Given the description of an element on the screen output the (x, y) to click on. 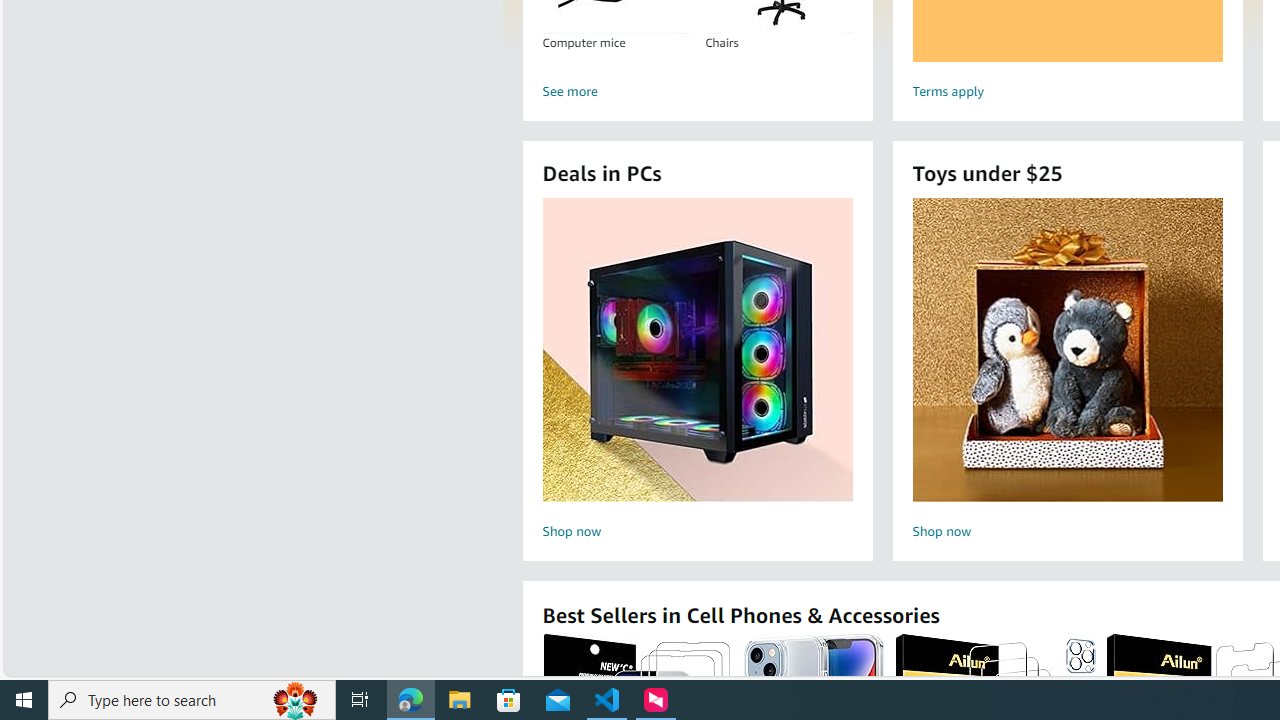
Toys under $25 Shop now (1067, 371)
Toys under $25 (1067, 349)
Deals in PCs (697, 349)
See more (696, 92)
Deals in PCs Shop now (697, 371)
